Given the description of an element on the screen output the (x, y) to click on. 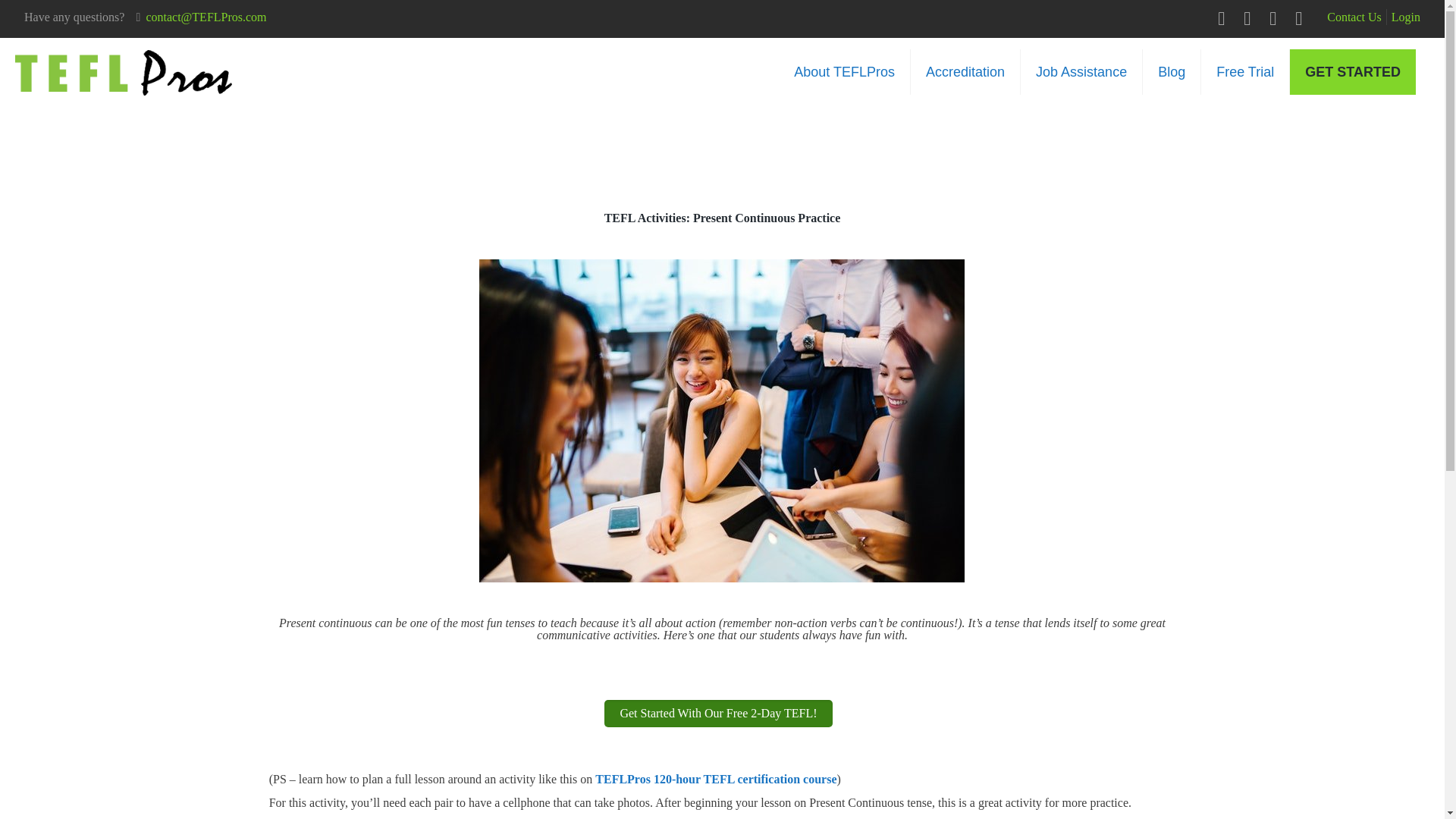
Contact Us (1353, 16)
About TEFLPros (844, 71)
Free Trial (1245, 71)
Job Assistance (1081, 71)
YouTube (1274, 18)
Instagram (1307, 18)
Twitter (1248, 18)
GET STARTED (1352, 71)
Get Started With Our Free 2-Day TEFL! (717, 713)
Facebook (1222, 18)
TEFLPros 120-hour TEFL certification course (715, 779)
Login (1406, 16)
Accreditation (965, 71)
TEFLPros (122, 71)
